Given the description of an element on the screen output the (x, y) to click on. 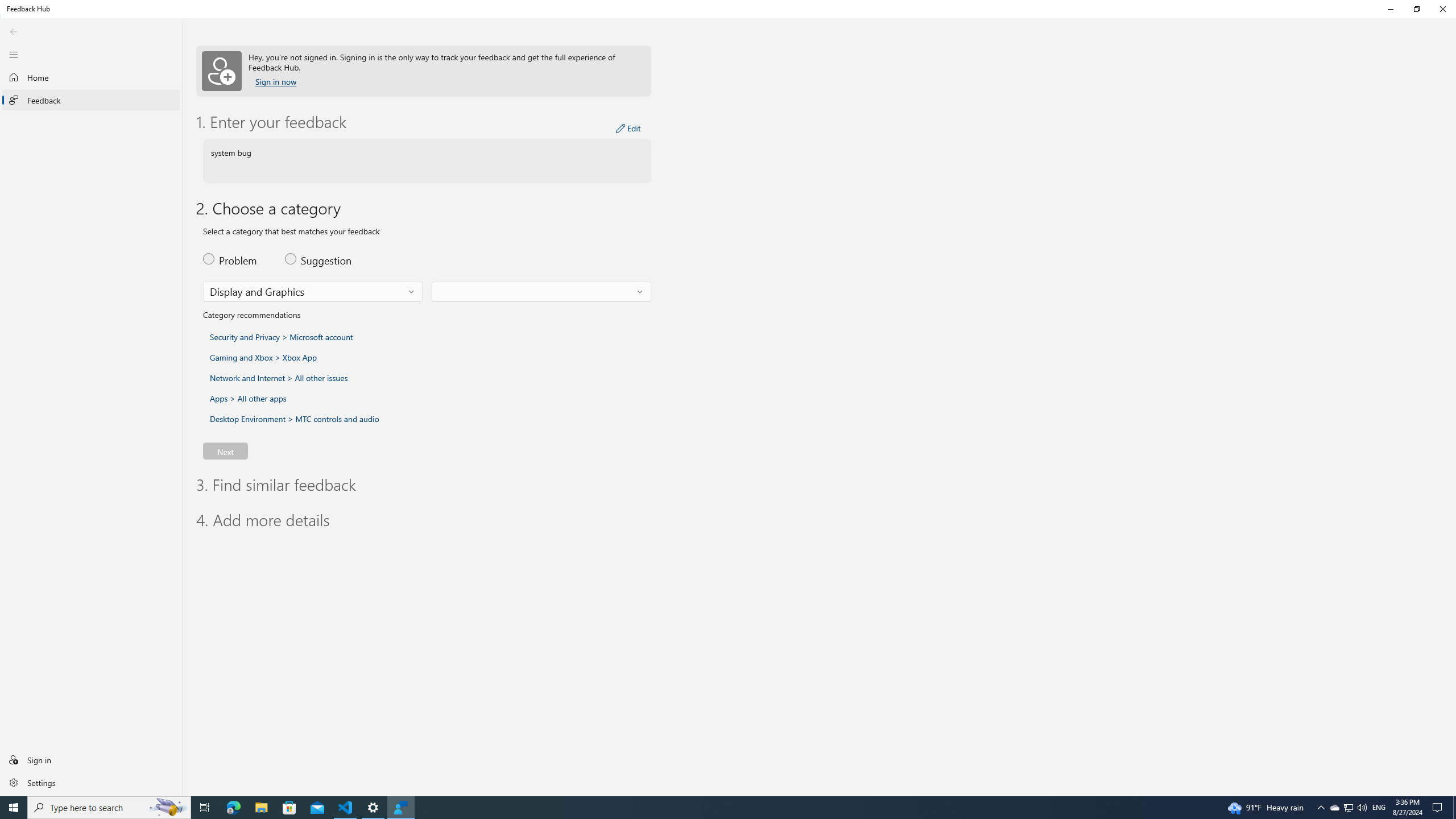
Display and Graphics (256, 291)
Feedback subcategory (541, 291)
Vertical (1452, 420)
Restore Feedback Hub (1416, 9)
Feedback Hub - 1 running window (400, 807)
Settings (90, 782)
Close Navigation (13, 54)
Next (224, 450)
